Given the description of an element on the screen output the (x, y) to click on. 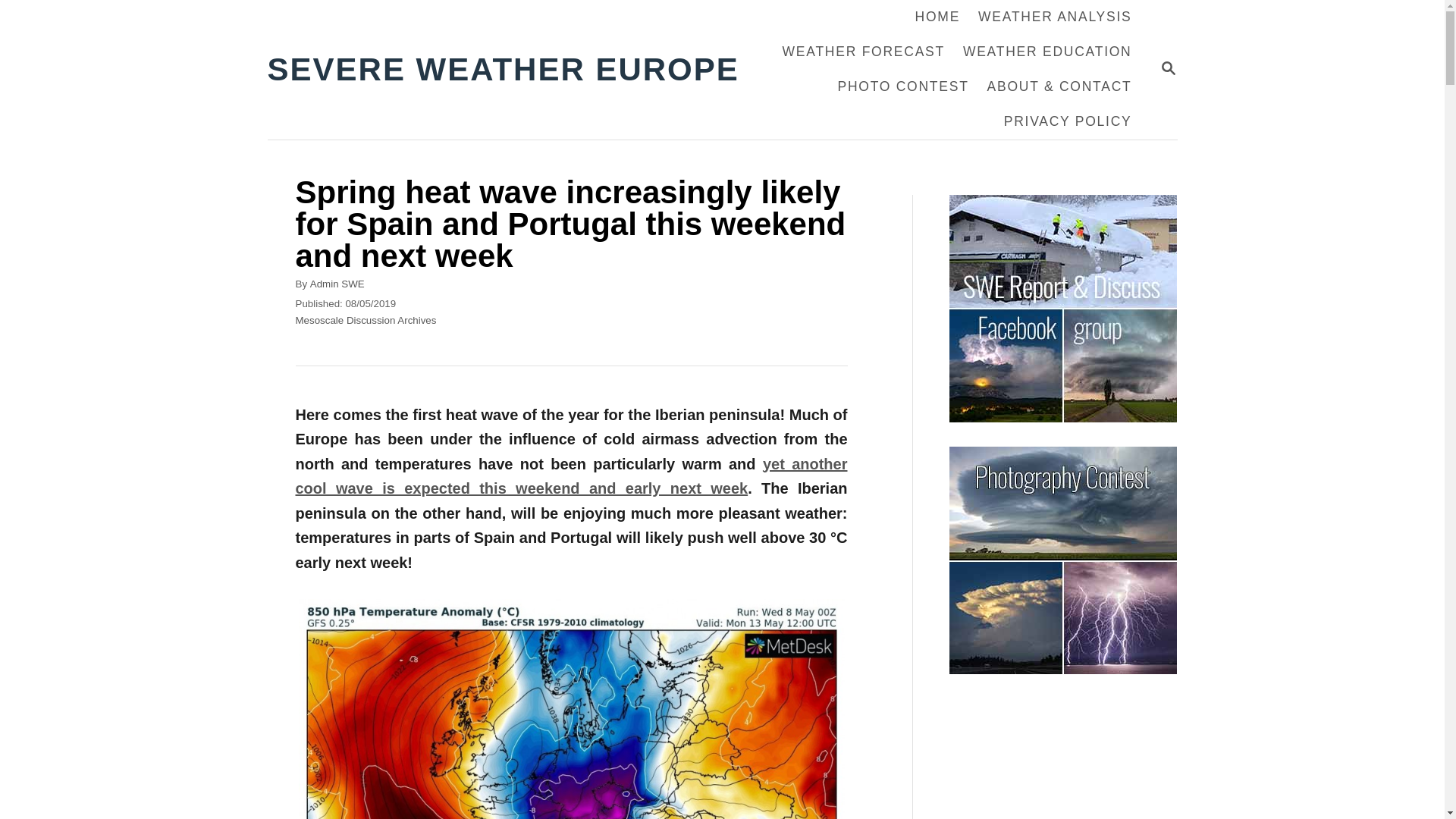
PHOTO CONTEST (902, 86)
HOME (937, 17)
Severe Weather Europe (511, 70)
WEATHER ANALYSIS (1054, 17)
WEATHER EDUCATION (1047, 52)
Mesoscale Discussion Archives (365, 319)
Admin SWE (1167, 68)
WEATHER FORECAST (337, 283)
MAGNIFYING GLASS (863, 52)
SEVERE WEATHER EUROPE (1167, 67)
PRIVACY POLICY (511, 70)
